Given the description of an element on the screen output the (x, y) to click on. 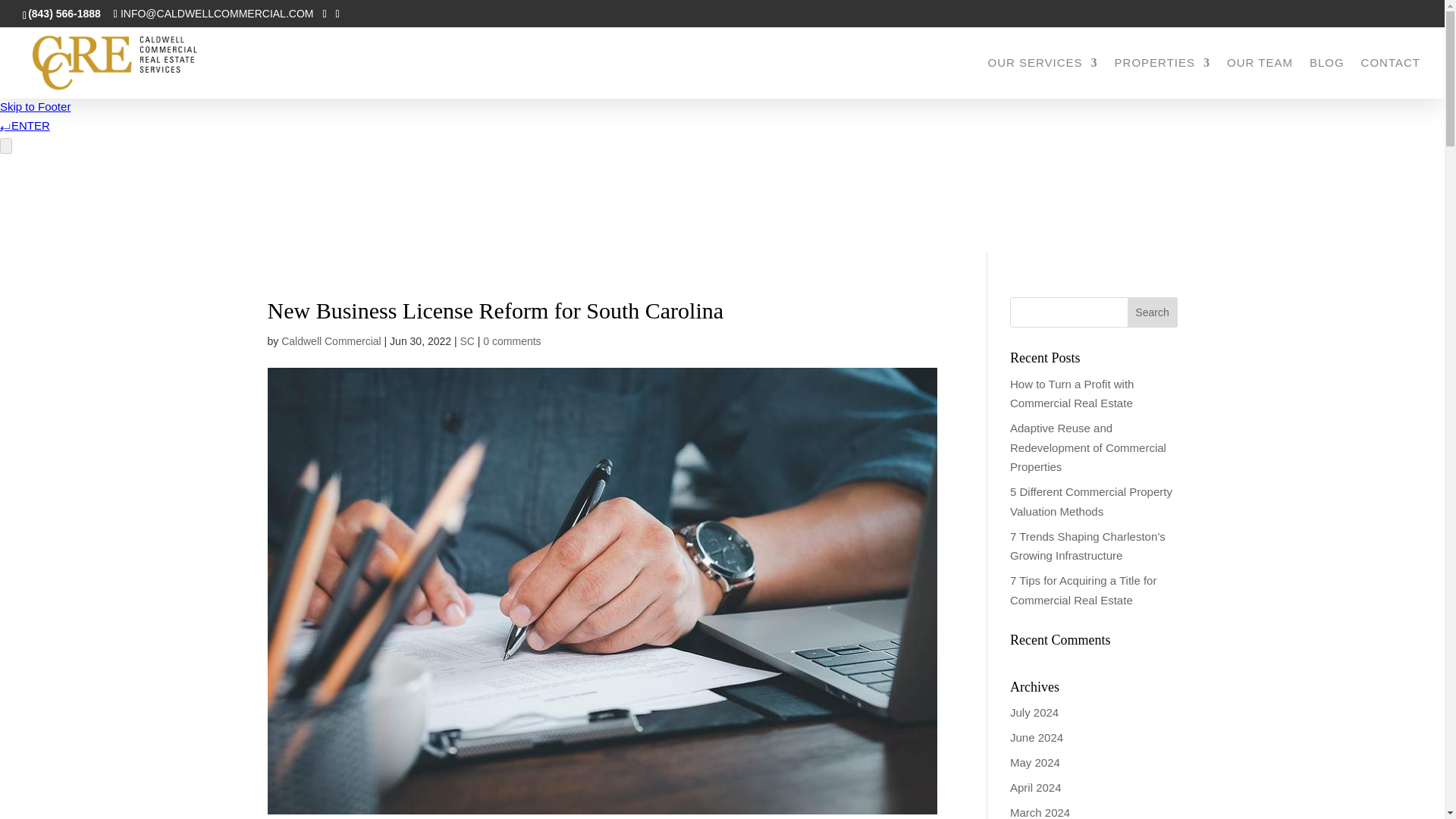
CONTACT (1391, 77)
Posts by Caldwell Commercial (330, 340)
SC (467, 340)
PROPERTIES (1162, 77)
0 comments (511, 340)
OUR SERVICES (1042, 77)
OUR TEAM (1259, 77)
Caldwell Commercial (330, 340)
Search (1151, 312)
